Given the description of an element on the screen output the (x, y) to click on. 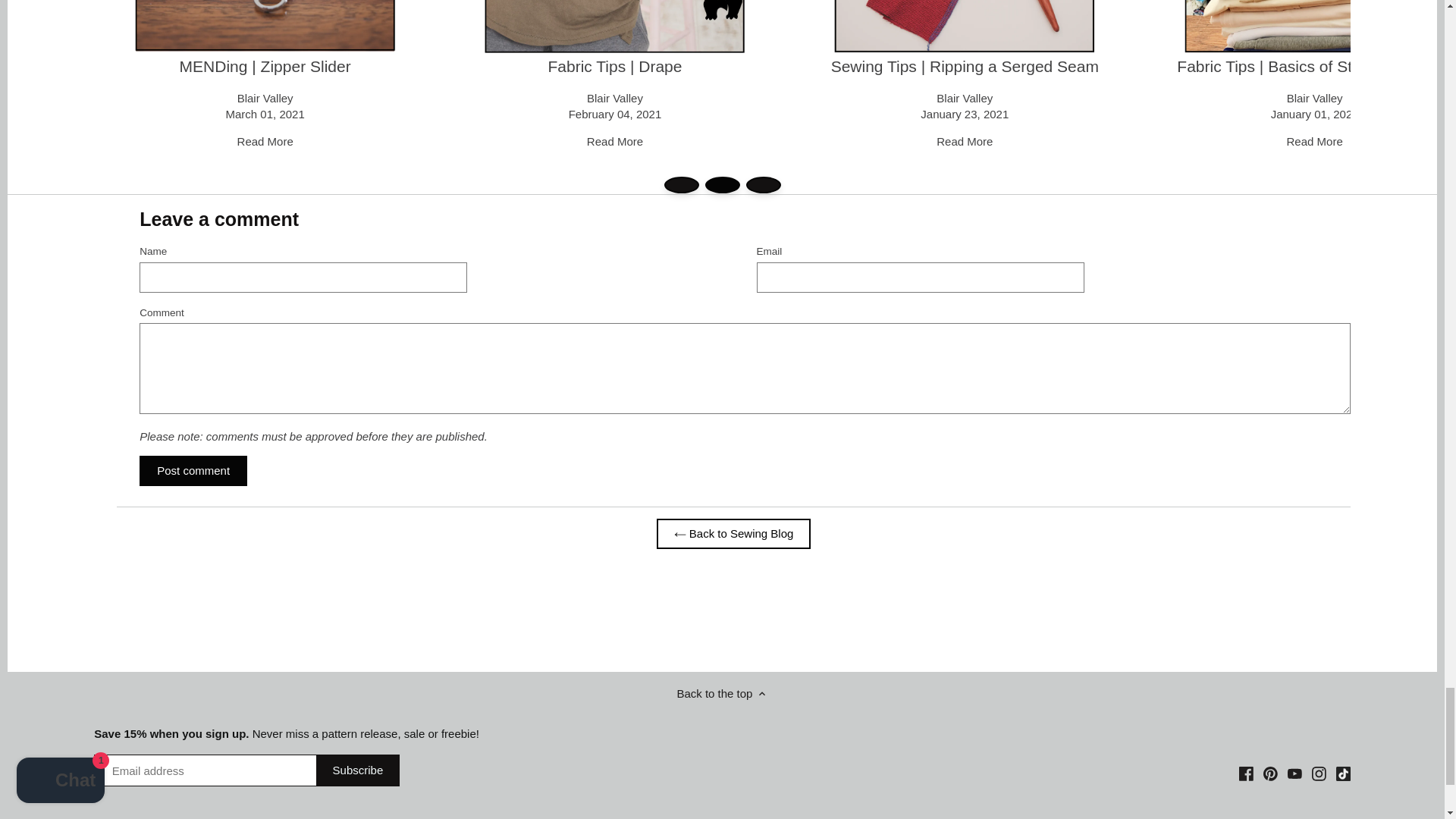
Facebook (1246, 772)
Subscribe (357, 770)
Youtube (1294, 773)
Instagram (1318, 772)
Pinterest (1270, 772)
Post comment (193, 470)
Facebook (1246, 773)
Youtube (1294, 772)
Pinterest (1269, 773)
